Given the description of an element on the screen output the (x, y) to click on. 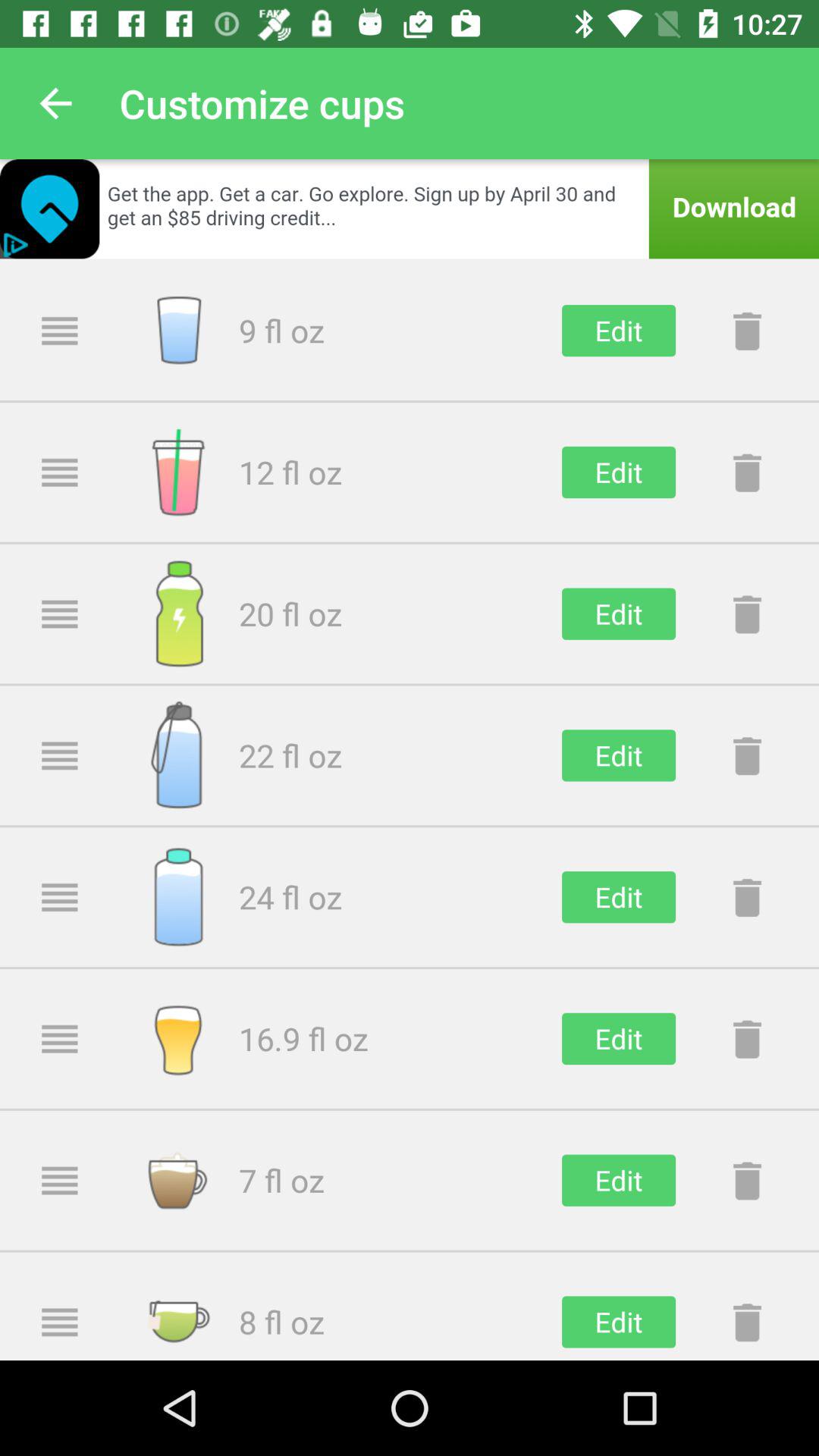
delete button (747, 1321)
